Given the description of an element on the screen output the (x, y) to click on. 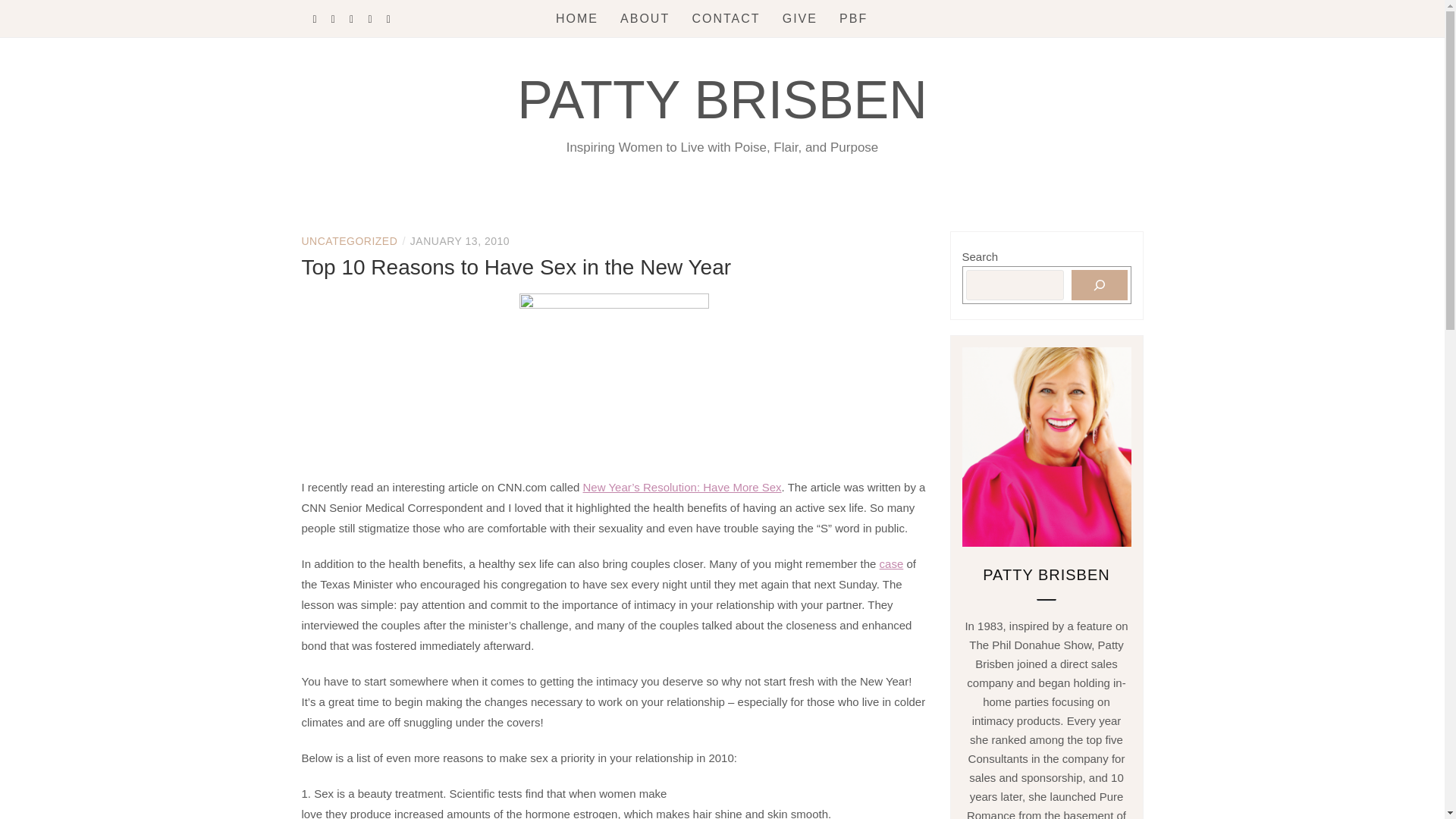
HOME (577, 18)
case (891, 563)
GIVE (799, 18)
UNCATEGORIZED (349, 241)
CONTACT (725, 18)
ABOUT (644, 18)
PATTY BRISBEN (721, 99)
